Given the description of an element on the screen output the (x, y) to click on. 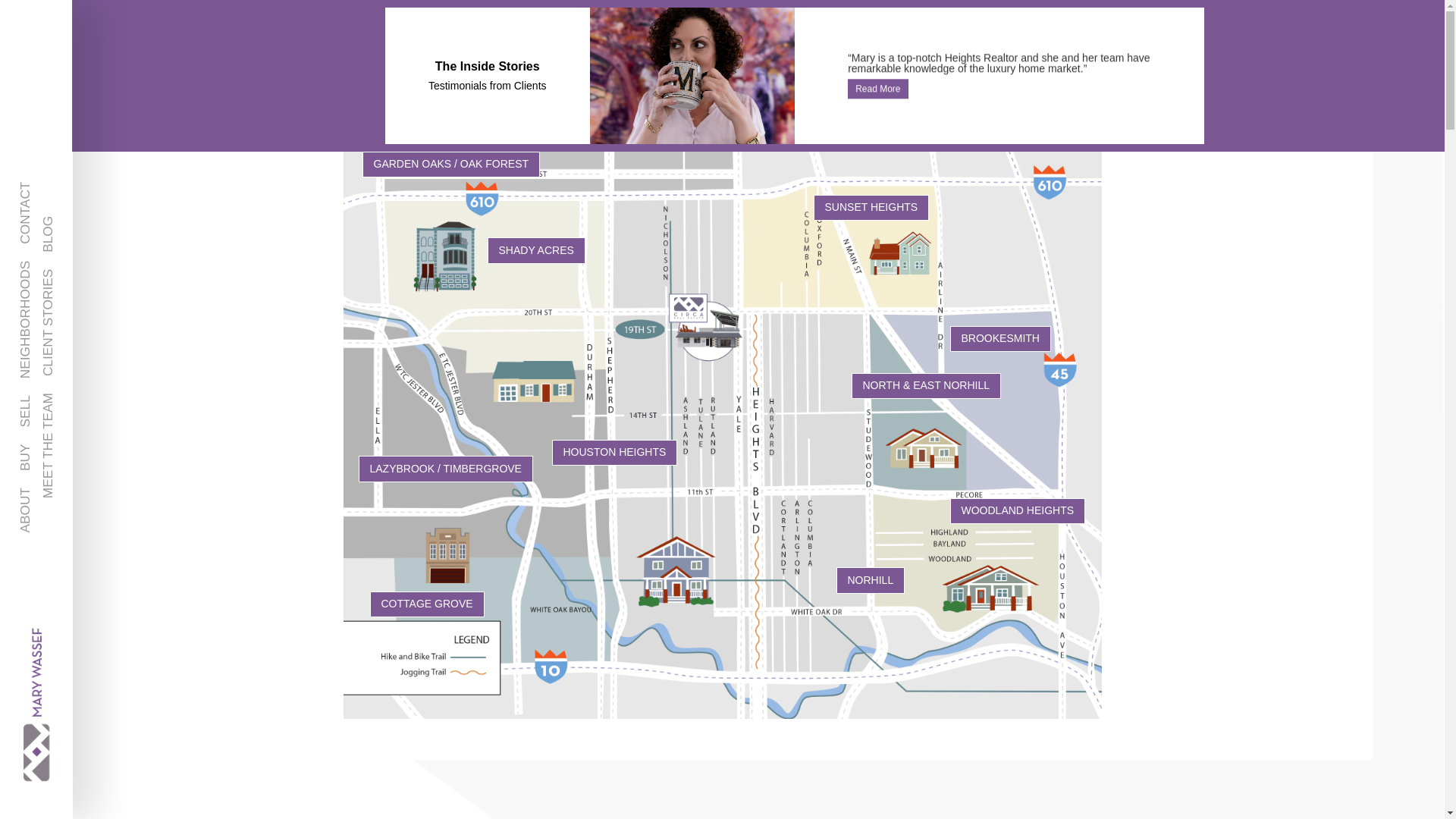
NEIGHBORHOODS (78, 269)
ABOUT (42, 495)
CLIENT STORIES (95, 277)
BUY (33, 451)
SHADY ACRES (535, 249)
2.-Background-image-sized (691, 75)
BLOG (60, 224)
Mary-Wassef-Logo (52, 633)
CONTACT (50, 189)
BROOKESMITH (999, 338)
